Given the description of an element on the screen output the (x, y) to click on. 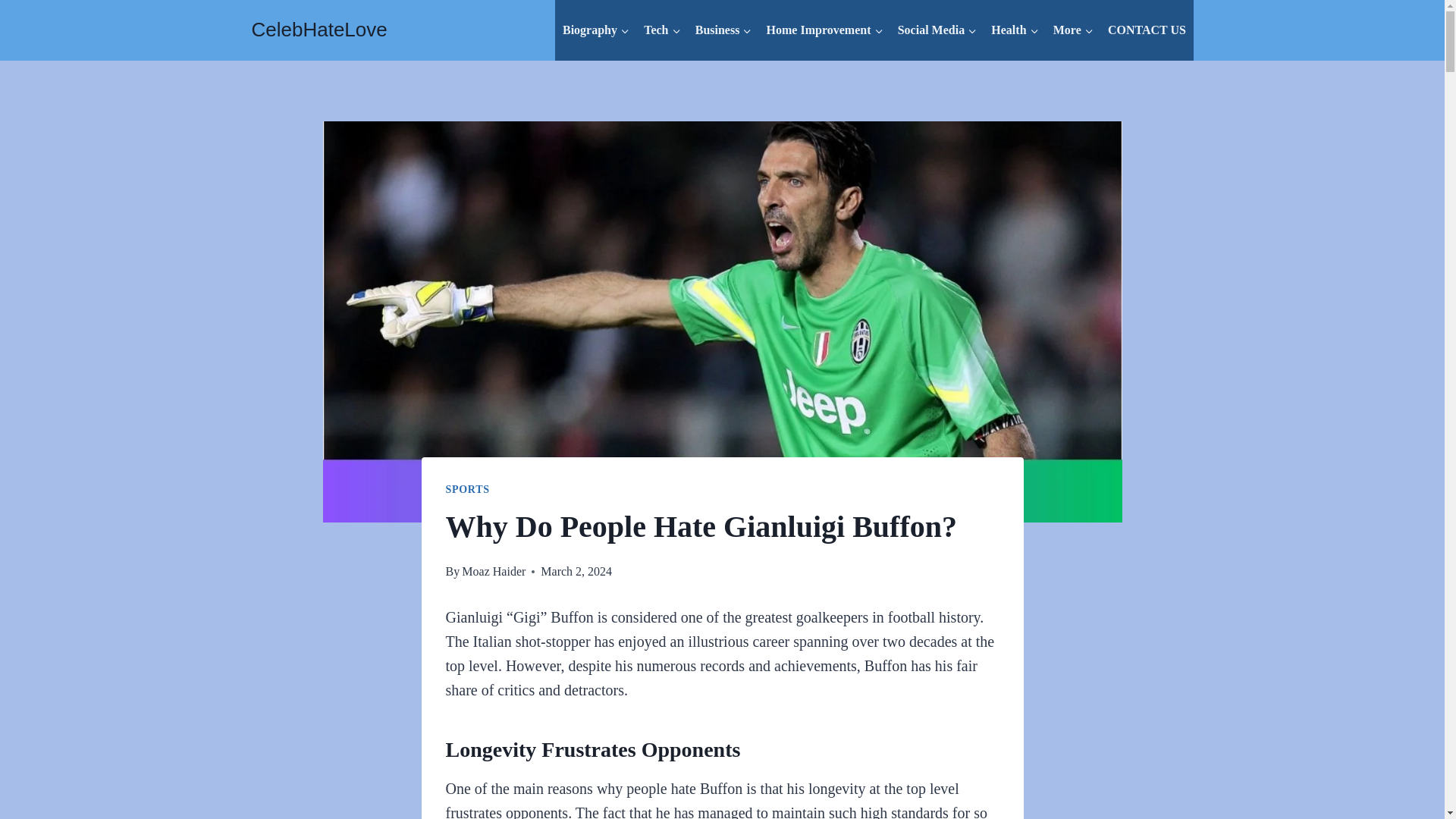
Social Media (936, 30)
CelebHateLove (319, 29)
Business (722, 30)
Biography (595, 30)
Home Improvement (823, 30)
Health (1014, 30)
